Given the description of an element on the screen output the (x, y) to click on. 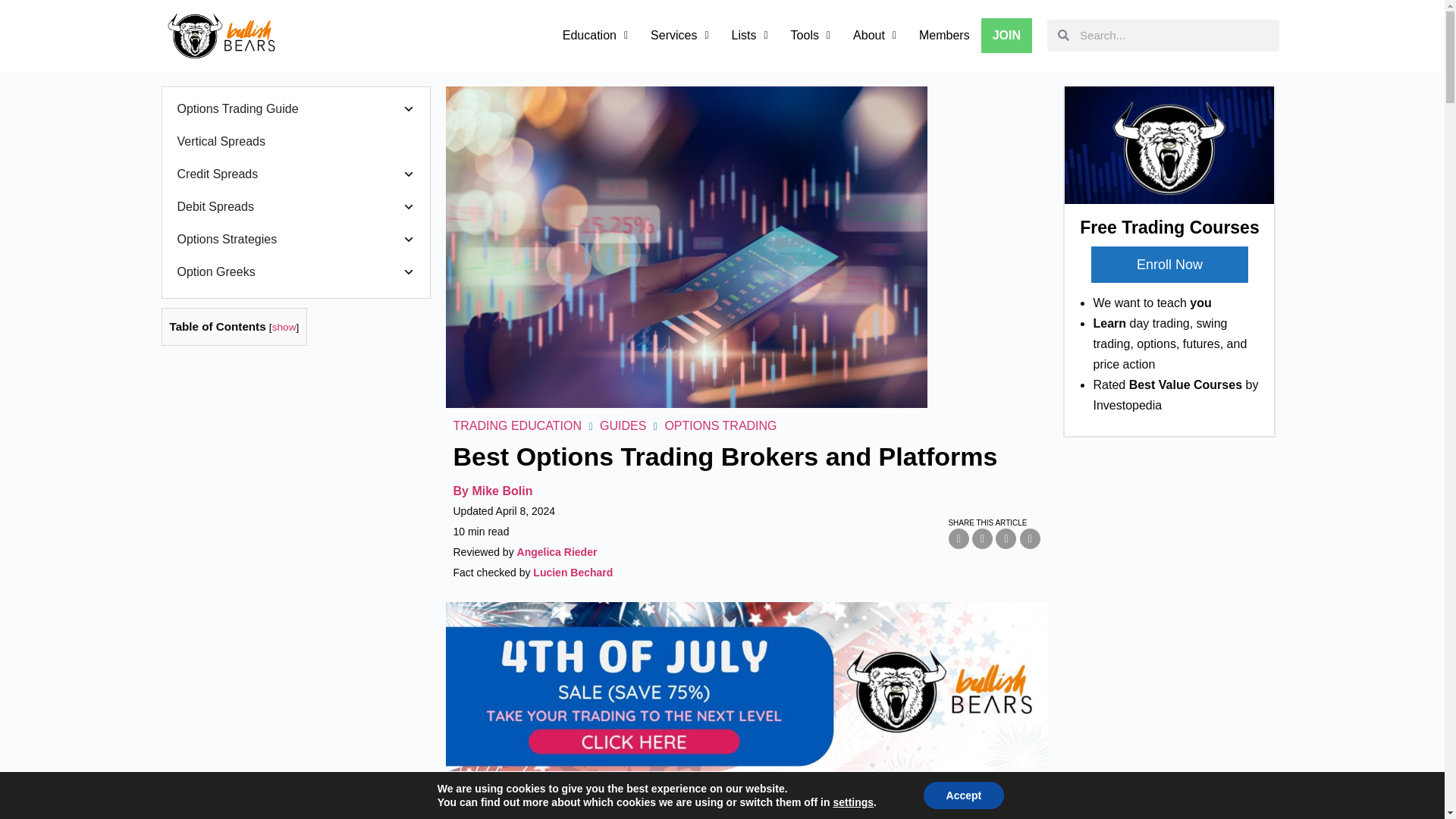
Education (595, 35)
Tools (809, 35)
Lists (749, 35)
Services (679, 35)
